Given the description of an element on the screen output the (x, y) to click on. 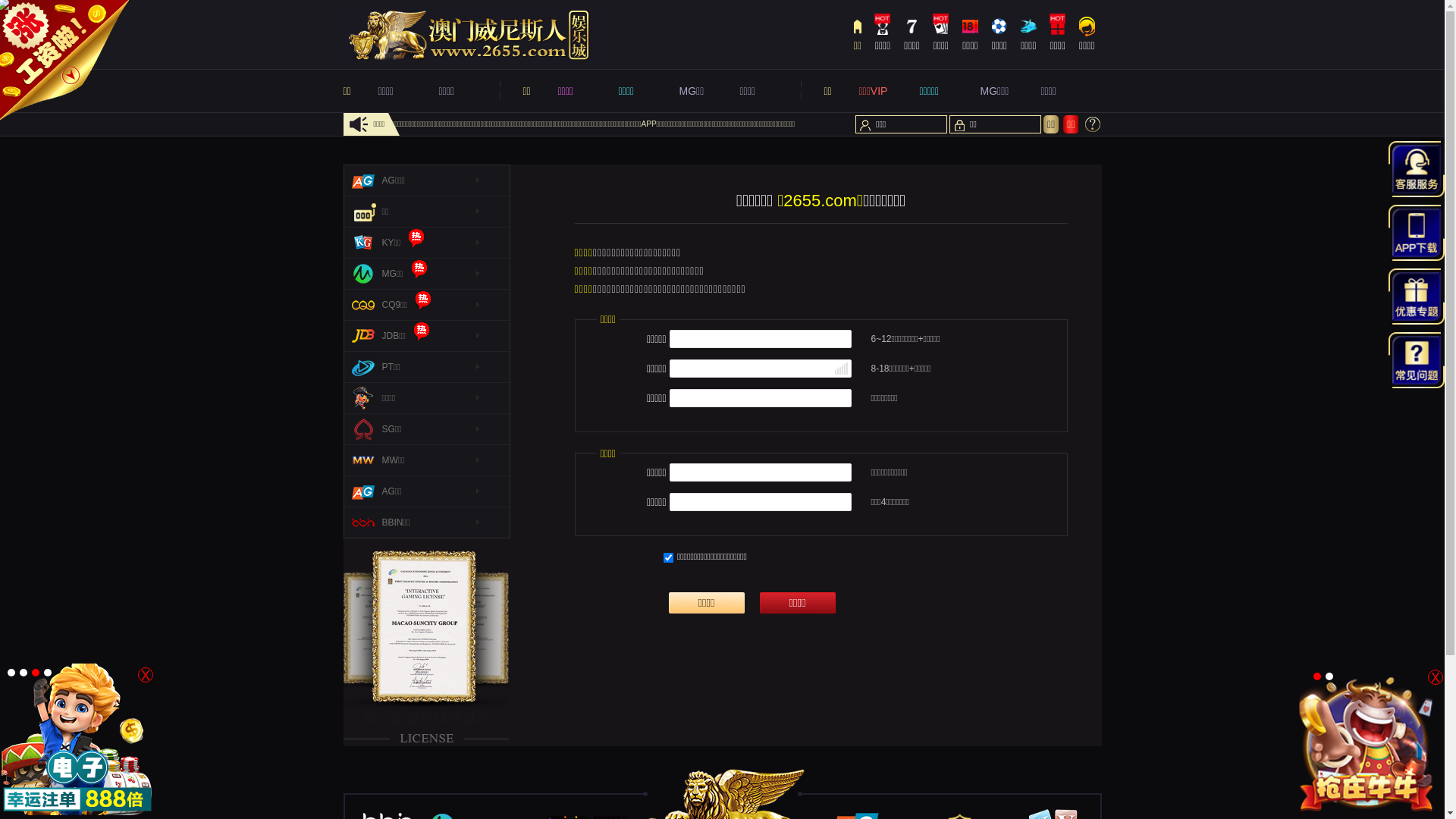
X Element type: text (1435, 676)
X Element type: text (145, 674)
